Given the description of an element on the screen output the (x, y) to click on. 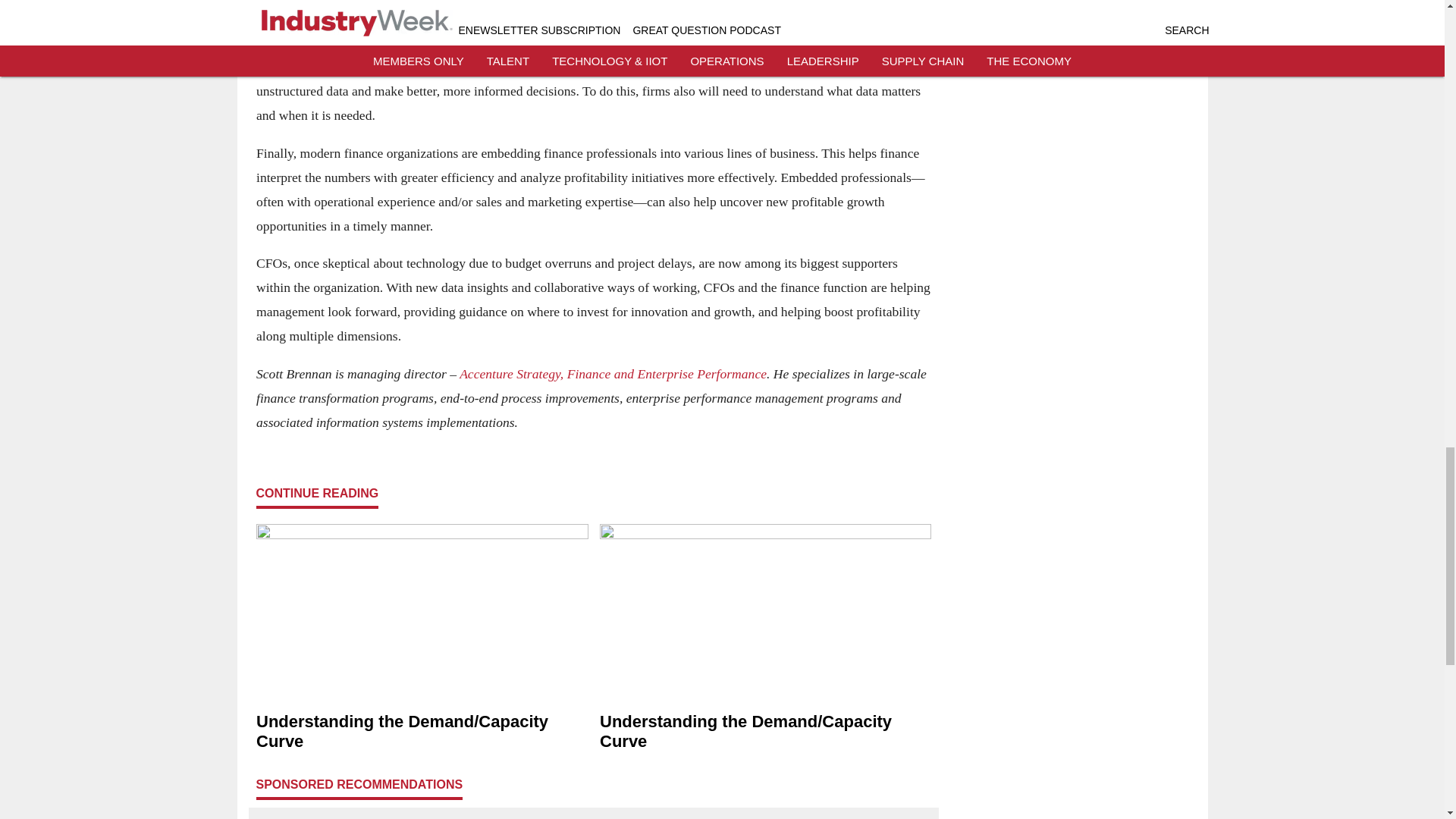
Accenture Strategy, Finance and Enterprise Performance (613, 373)
